Given the description of an element on the screen output the (x, y) to click on. 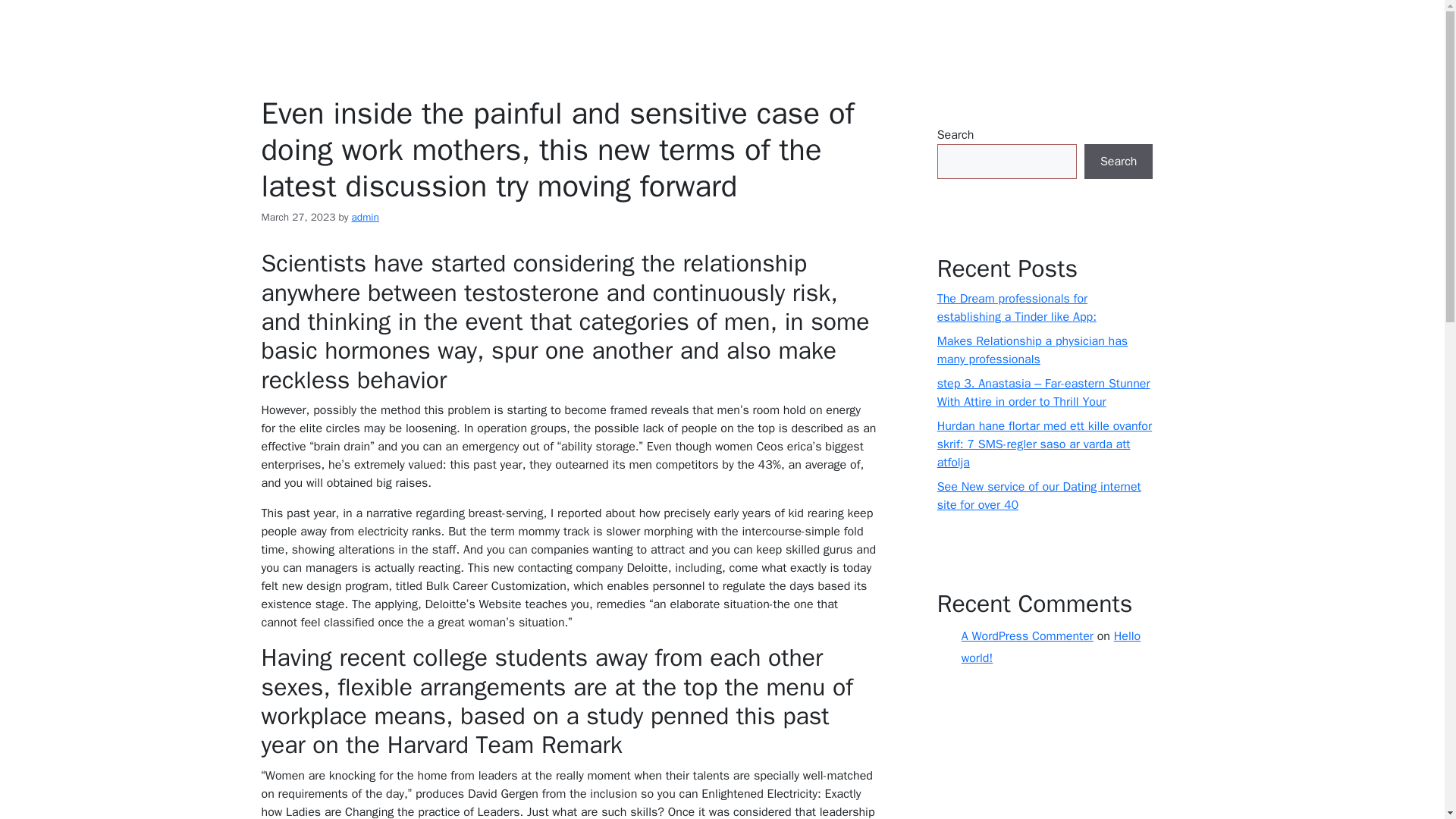
Makes Relationship a physician has many professionals (1031, 349)
See New service of our Dating internet site for over 40 (1039, 495)
admin (365, 216)
Hello world! (1050, 646)
View all posts by admin (365, 216)
Search (1118, 161)
A WordPress Commenter (1026, 635)
The Dream professionals for establishing a Tinder like App: (1016, 307)
